Given the description of an element on the screen output the (x, y) to click on. 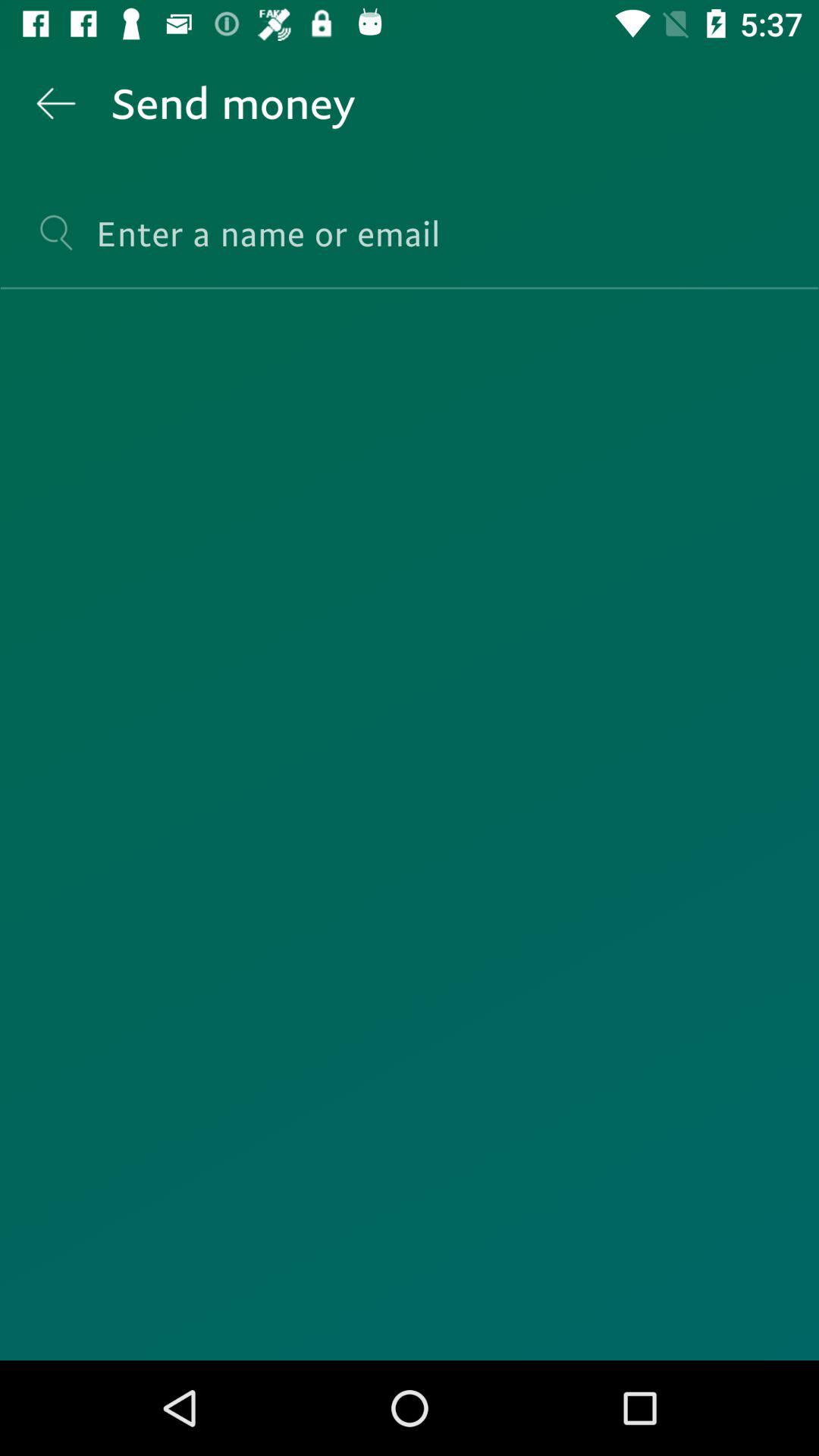
select icon to the left of send money icon (55, 103)
